Given the description of an element on the screen output the (x, y) to click on. 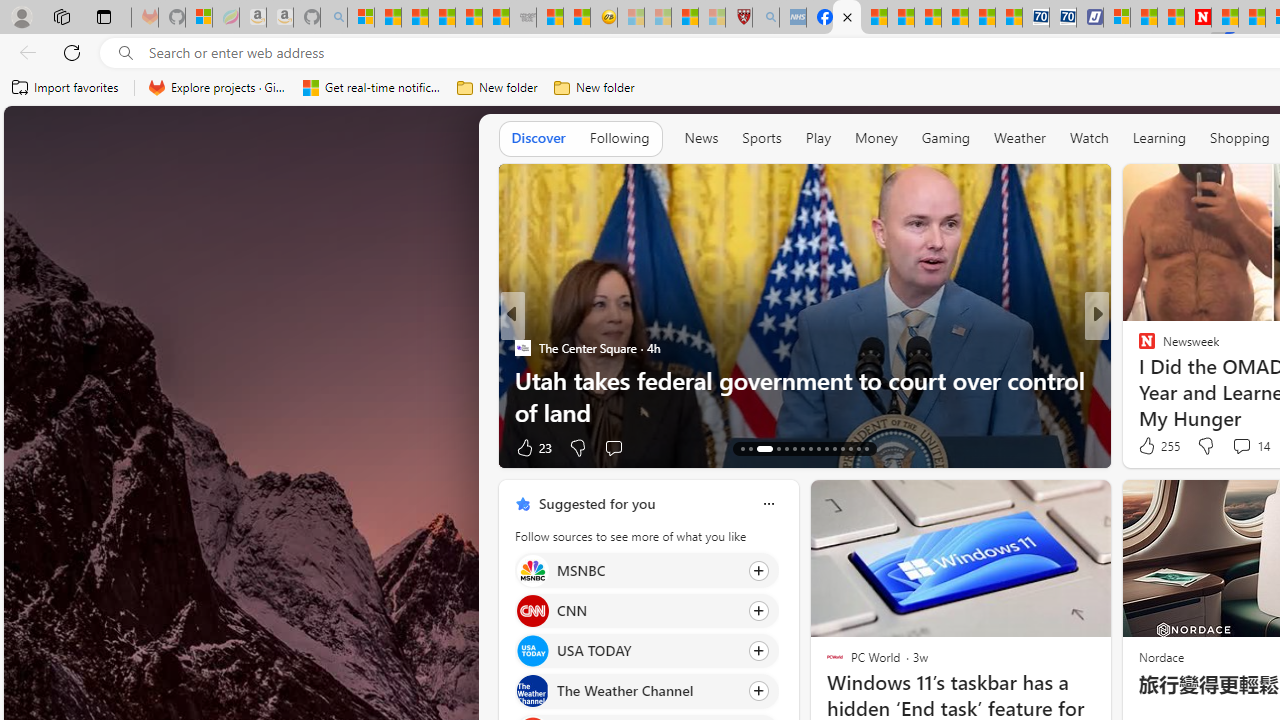
The Passport Kitchen (522, 380)
View comments 114 Comment (1247, 447)
New folder (594, 88)
View comments 24 Comment (1244, 447)
MSNBC (532, 569)
